Given the description of an element on the screen output the (x, y) to click on. 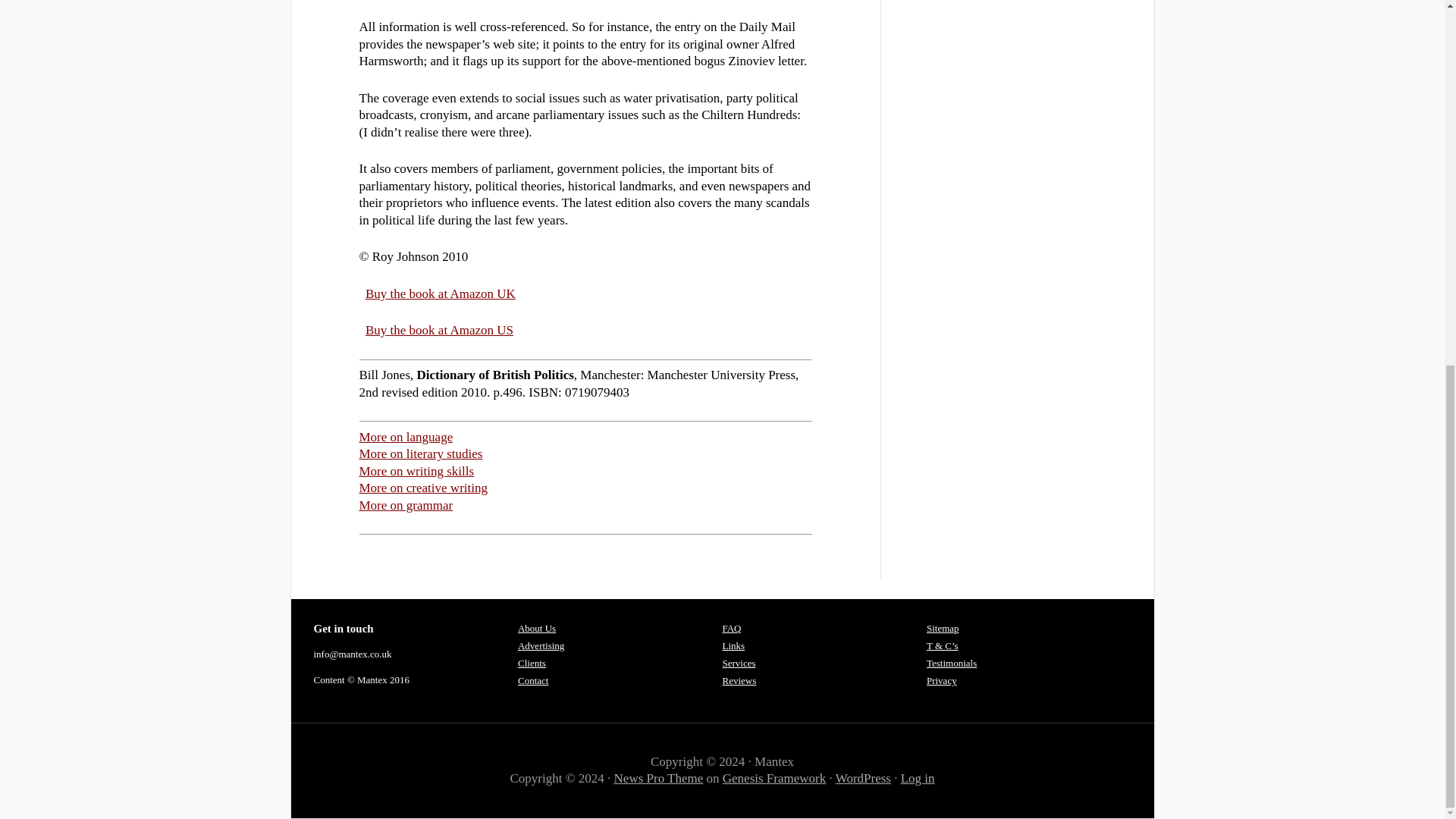
More on writing skills (416, 471)
WordPress (863, 778)
More on grammar (405, 504)
Links (733, 645)
More on literary studies (421, 453)
FAQ (731, 627)
Clients (532, 663)
Privacy (941, 680)
Advertising (541, 645)
Genesis Framework (773, 778)
About Us (537, 627)
Testimonials (951, 663)
Contact (533, 680)
Buy the book at Amazon US (439, 329)
More on language (405, 436)
